Given the description of an element on the screen output the (x, y) to click on. 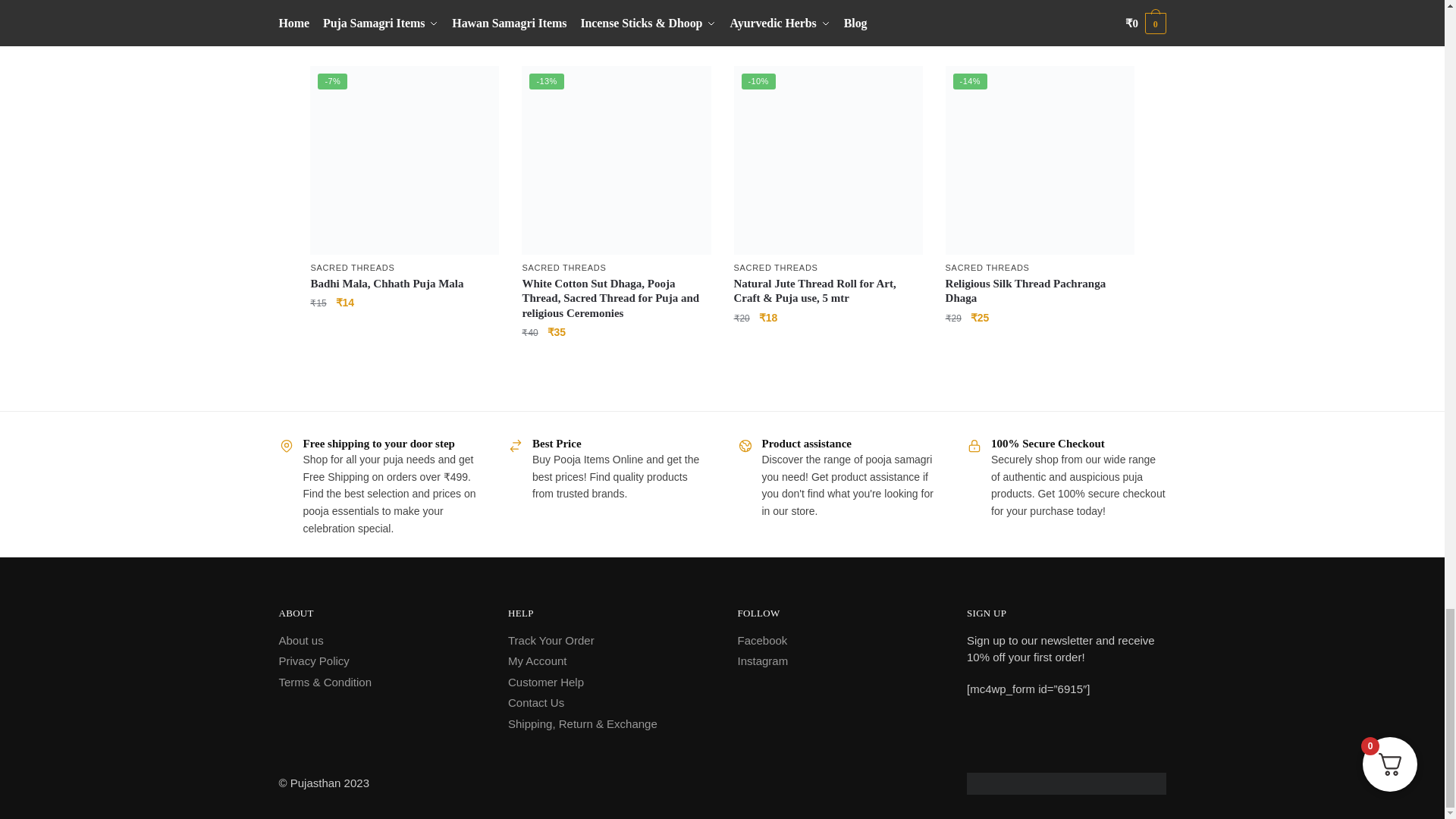
Badhi Mala, Chhath Puja Mala (404, 160)
Religious Silk Thread Pachranga Dhaga (1039, 160)
